Given the description of an element on the screen output the (x, y) to click on. 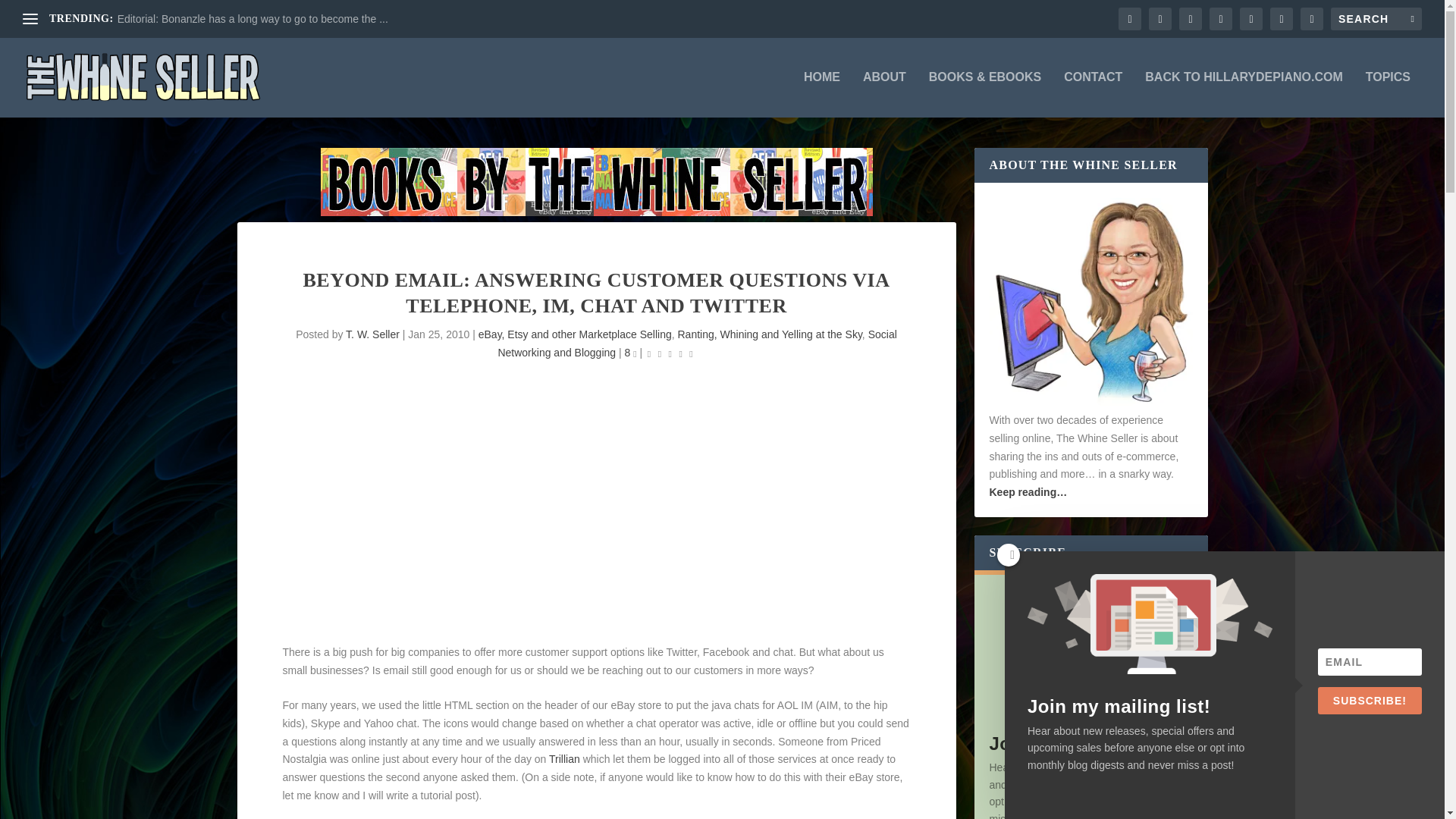
Rating: 0.00 (670, 353)
Search for: (1376, 18)
Posts by T. W. Seller (372, 334)
Editorial: Bonanzle has a long way to go to become the ... (252, 19)
BACK TO HILLARYDEPIANO.COM (1243, 94)
ABOUT (884, 94)
TOPICS (1387, 94)
CONTACT (1093, 94)
